Given the description of an element on the screen output the (x, y) to click on. 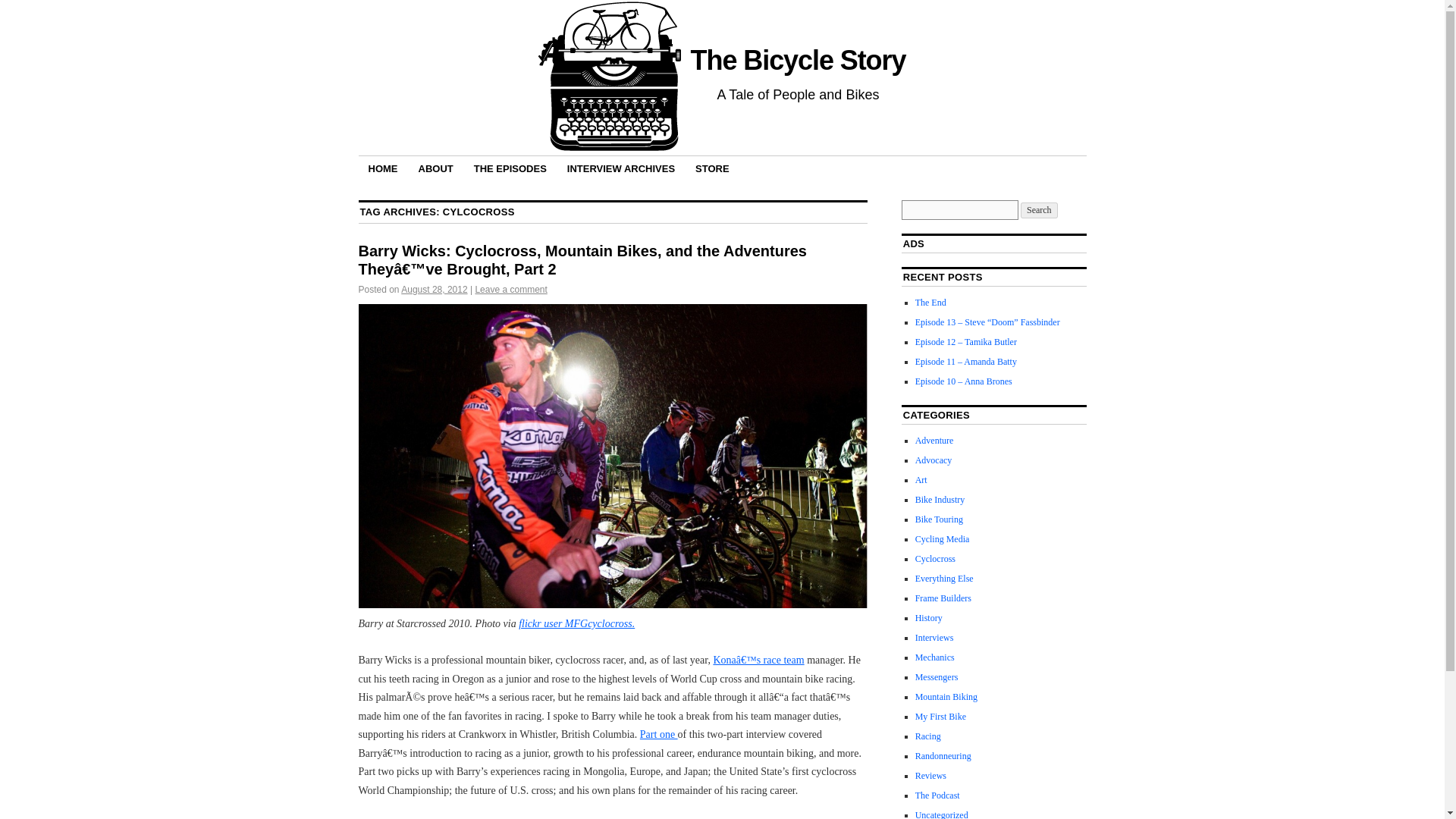
August 28, 2012 (434, 289)
Adventure (934, 439)
The End (930, 302)
Leave a comment (510, 289)
STORE (712, 168)
INTERVIEW ARCHIVES (620, 168)
Art (921, 480)
The Bicycle Story (797, 60)
HOME (382, 168)
flickr user MFGcyclocross. (576, 623)
THE EPISODES (510, 168)
Part one (659, 734)
Bike Industry (940, 499)
ABOUT (435, 168)
